Given the description of an element on the screen output the (x, y) to click on. 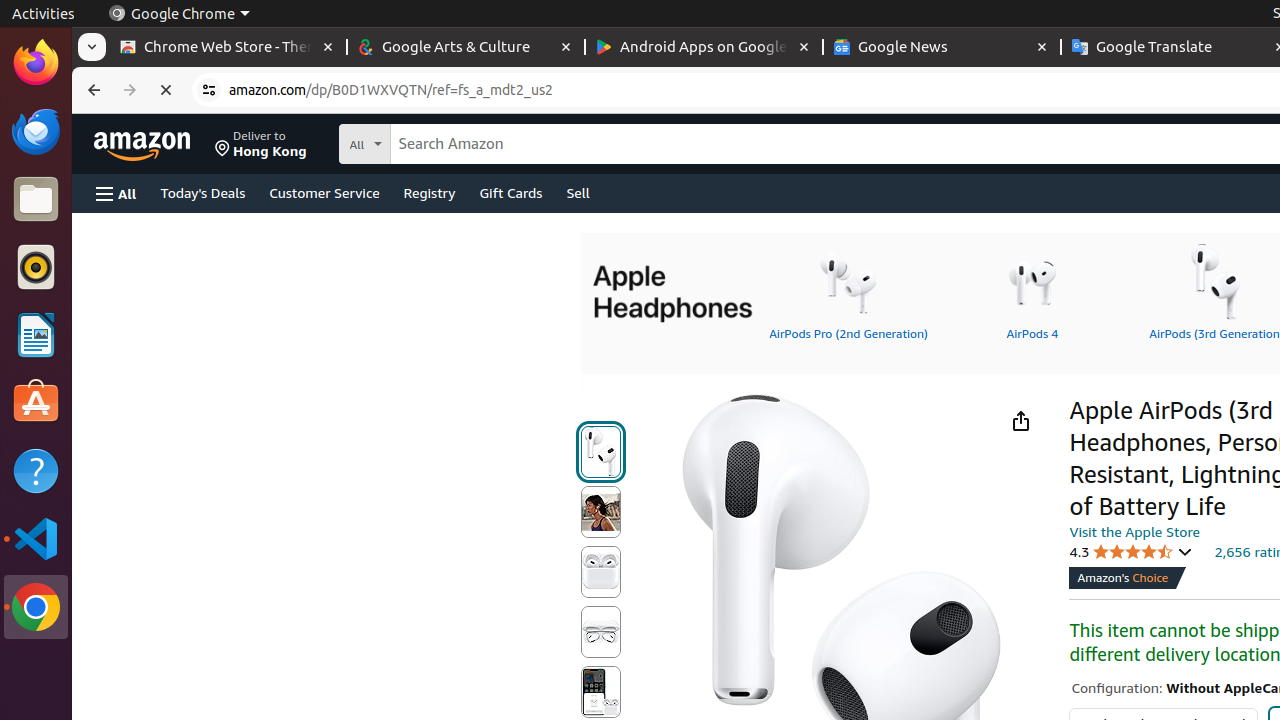
Today's Deals Element type: link (203, 192)
Amazon Element type: link (144, 144)
Google Chrome Element type: menu (179, 13)
View site information Element type: push-button (209, 90)
Deliver to Hong Kong Element type: link (261, 144)
